Given the description of an element on the screen output the (x, y) to click on. 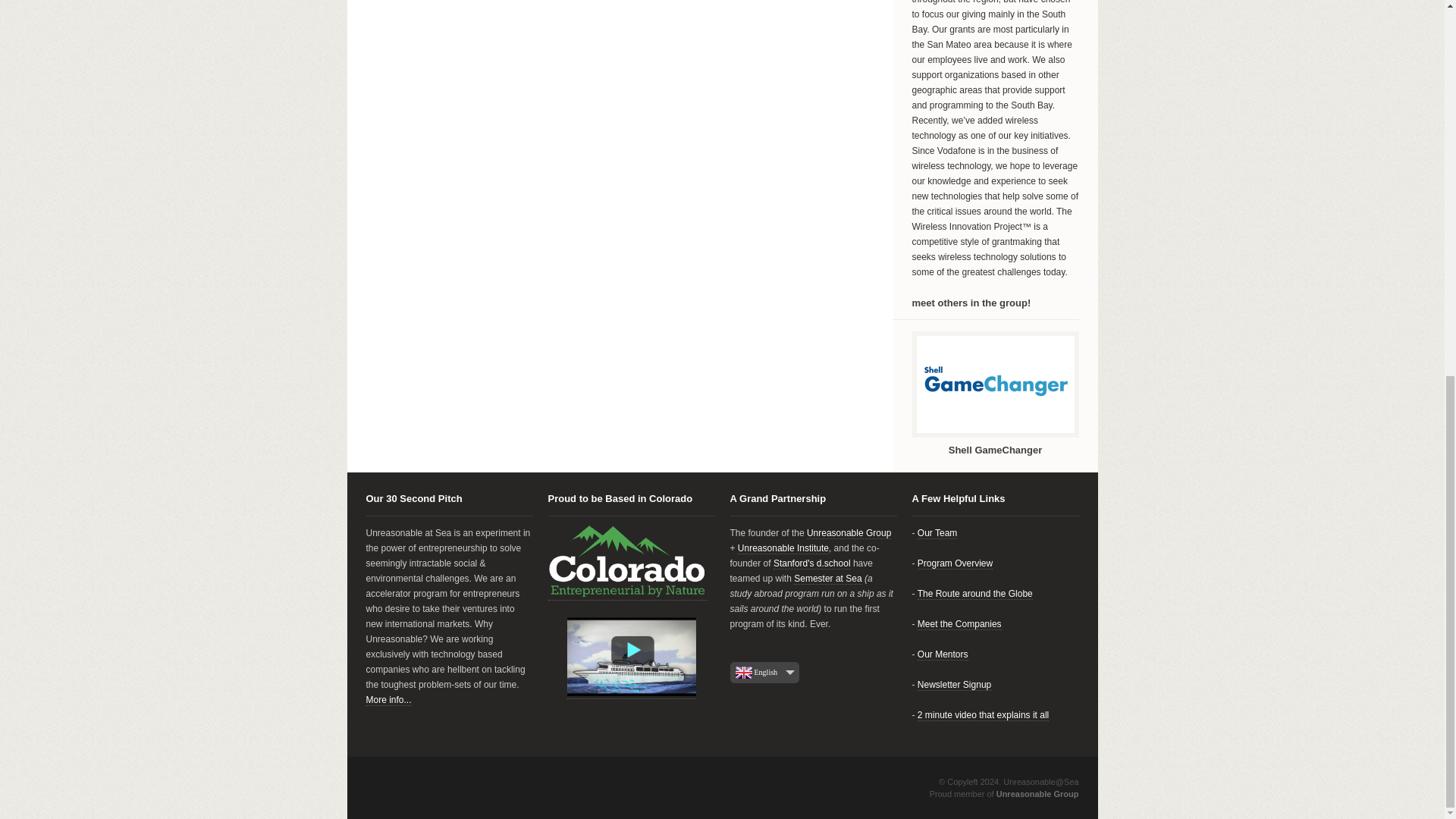
Unreasonable Institute (783, 548)
Permanent Link to Shell GameChanger (995, 449)
Permanent Link to Shell GameChanger (994, 384)
Colorado is the best state in the union (626, 561)
Shell GameChanger (995, 449)
2 minute video (631, 656)
Semester at Sea (827, 578)
Unreasonable Group (848, 532)
English (812, 672)
More info... (387, 699)
Stanford's d.school (811, 563)
